Given the description of an element on the screen output the (x, y) to click on. 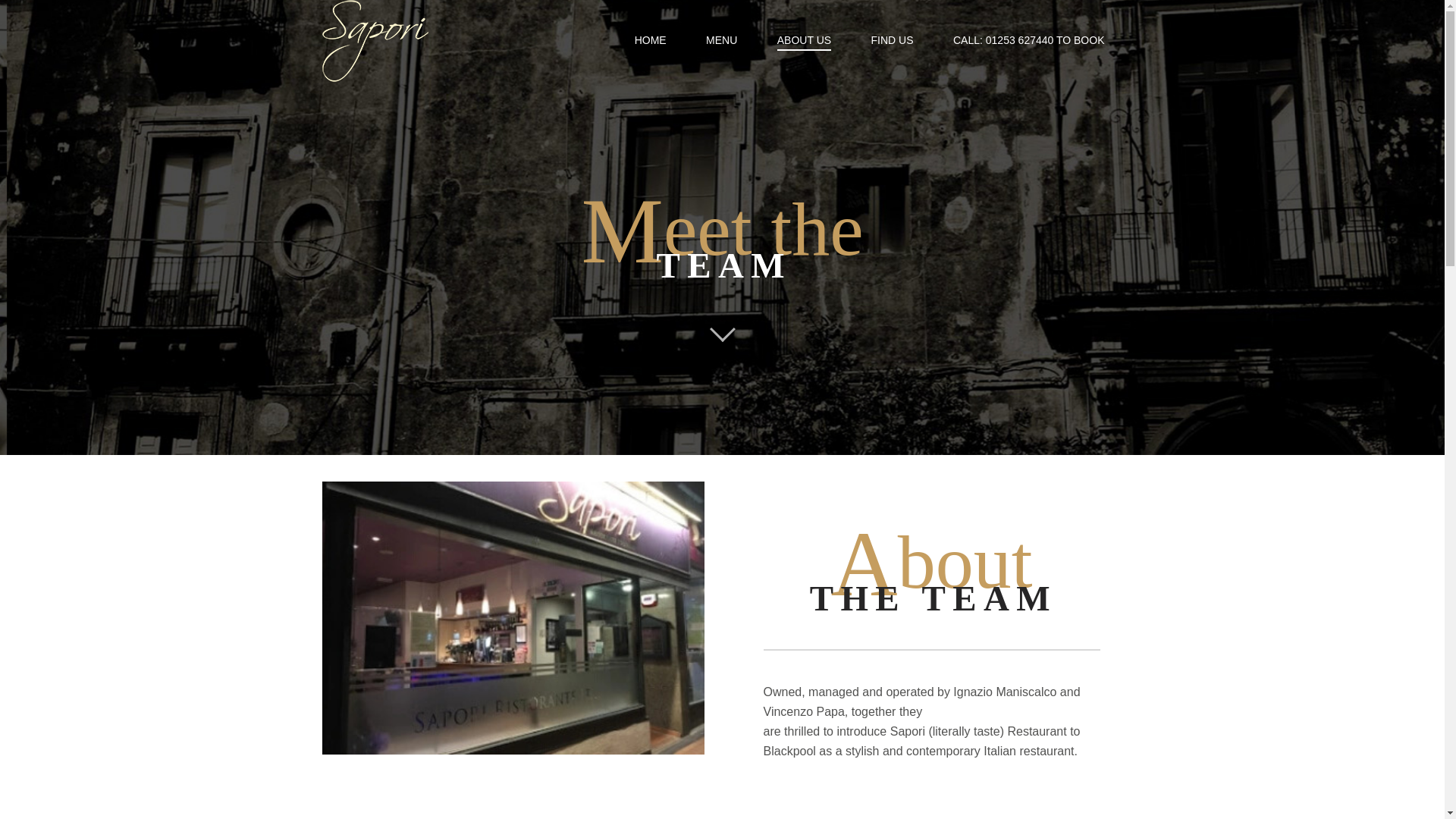
MENU (721, 40)
CALL: 01253 627440 TO BOOK (1028, 40)
Sapori Restaurant (394, 40)
HOME (649, 40)
FIND US (892, 40)
ABOUT US (803, 40)
